Given the description of an element on the screen output the (x, y) to click on. 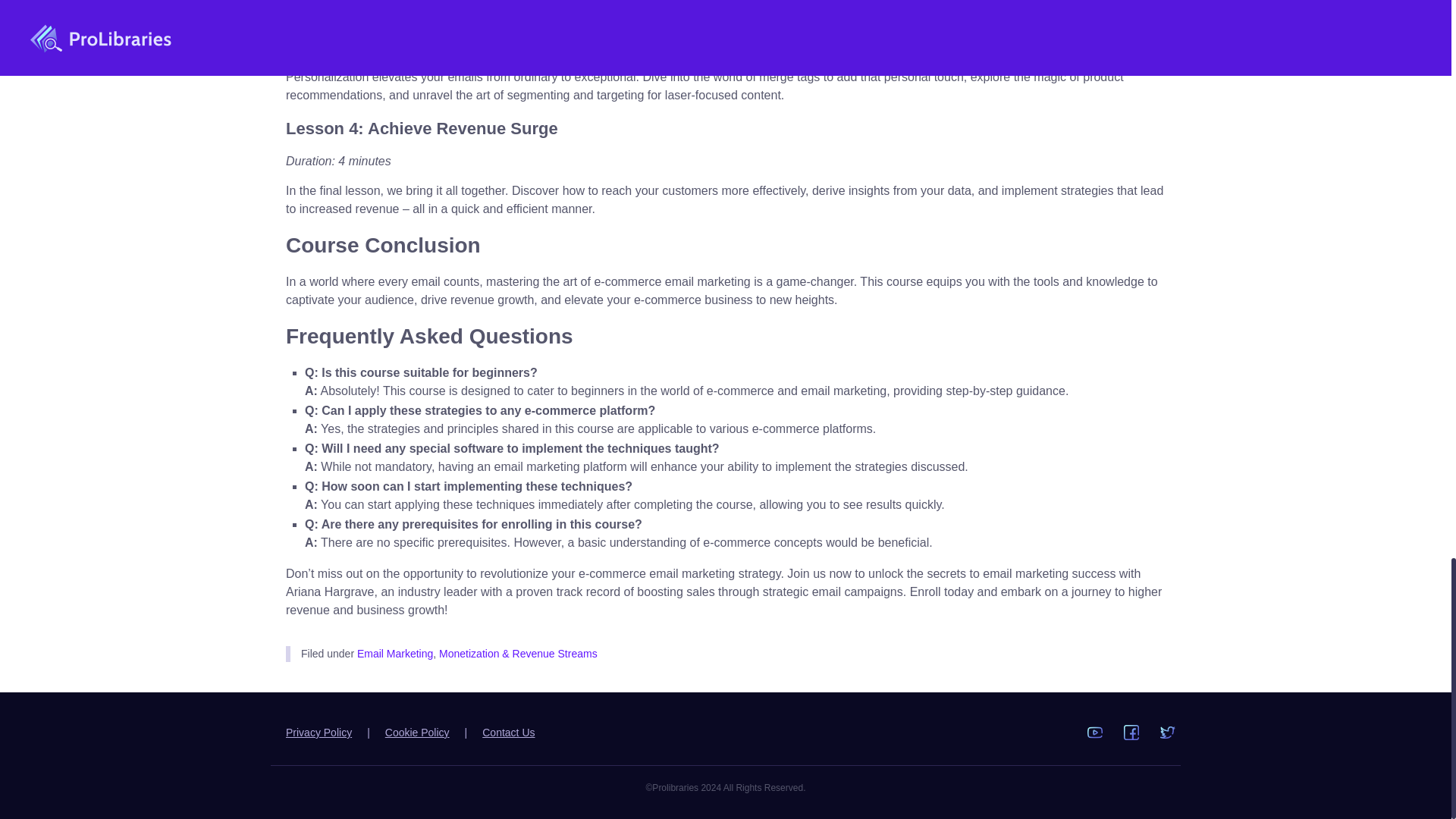
Contact Us (508, 732)
Our YouTube (1094, 732)
Our Twitter (1167, 732)
Privacy Policy (318, 732)
Email Marketing (394, 653)
Cookie Policy (416, 732)
Our Facebook (1131, 732)
